Given the description of an element on the screen output the (x, y) to click on. 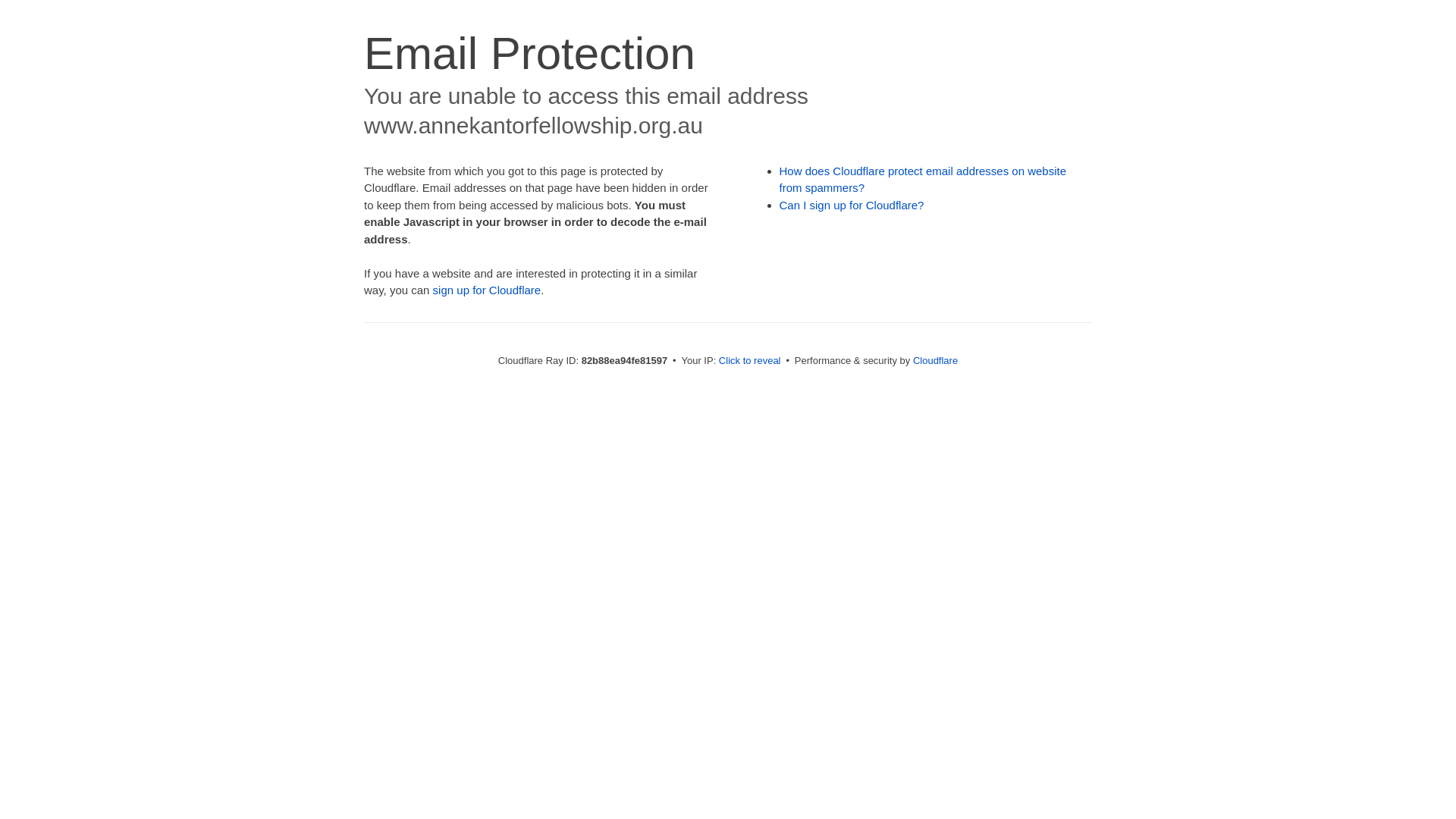
Cloudflare Element type: text (935, 360)
Click to reveal Element type: text (749, 360)
Can I sign up for Cloudflare? Element type: text (851, 204)
sign up for Cloudflare Element type: text (487, 289)
